Given the description of an element on the screen output the (x, y) to click on. 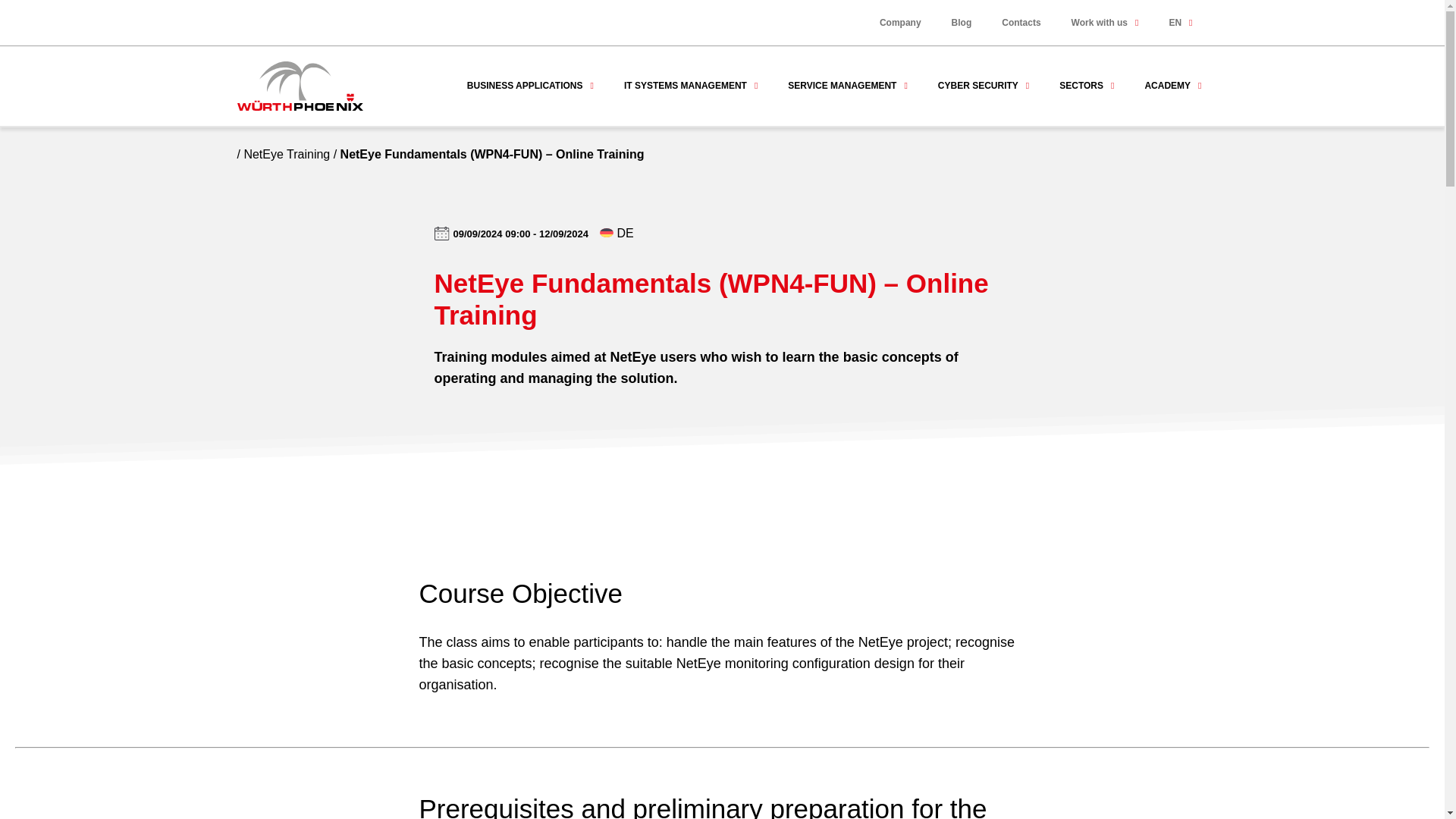
Blog (961, 22)
EN (1180, 22)
Contacts (1021, 22)
Company (900, 22)
EN (1180, 22)
IT SYSTEMS MANAGEMENT (690, 85)
BUSINESS APPLICATIONS (529, 85)
Work with us (1105, 22)
